Given the description of an element on the screen output the (x, y) to click on. 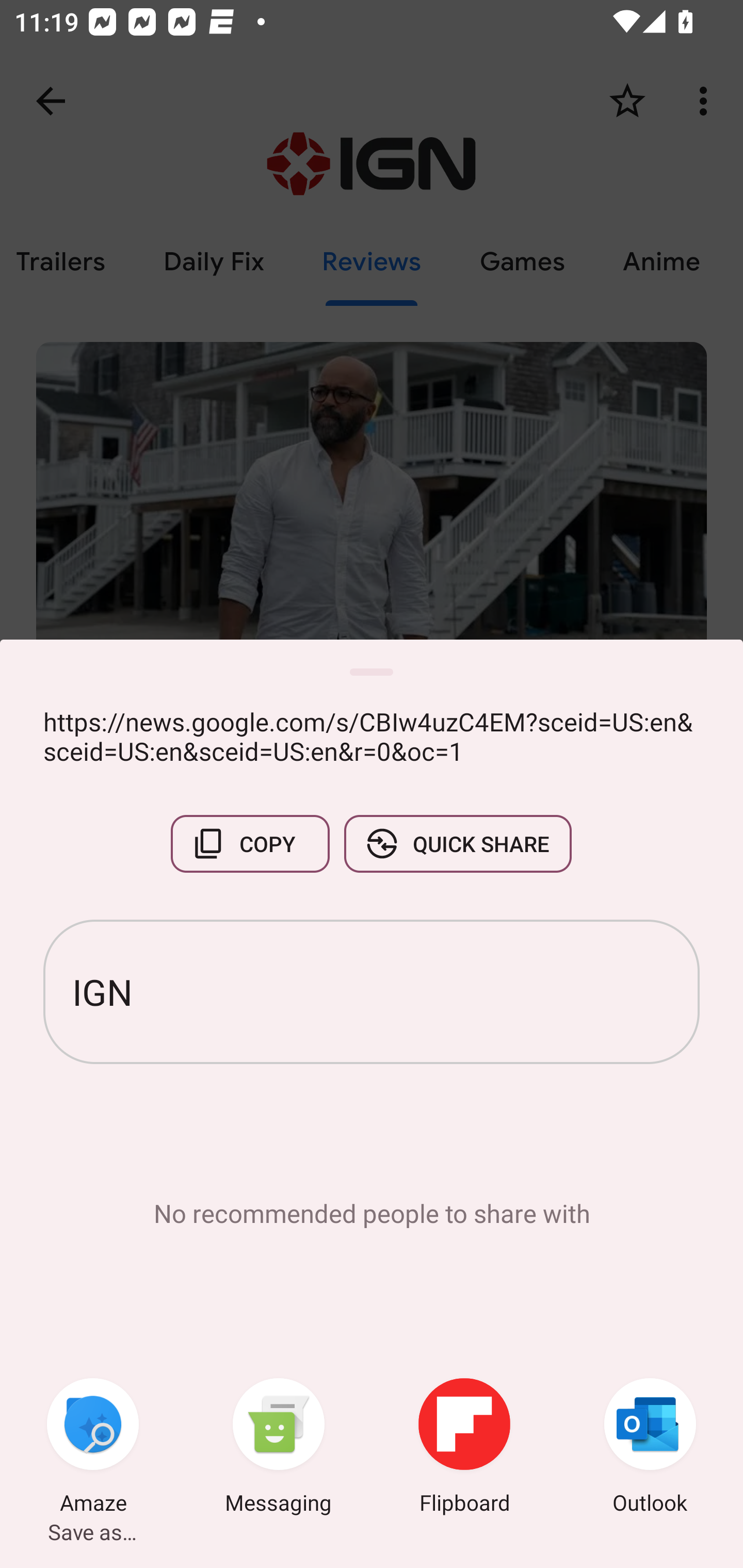
COPY (249, 844)
QUICK SHARE (457, 844)
Amaze Save as… (92, 1448)
Messaging (278, 1448)
Flipboard (464, 1448)
Outlook (650, 1448)
